Given the description of an element on the screen output the (x, y) to click on. 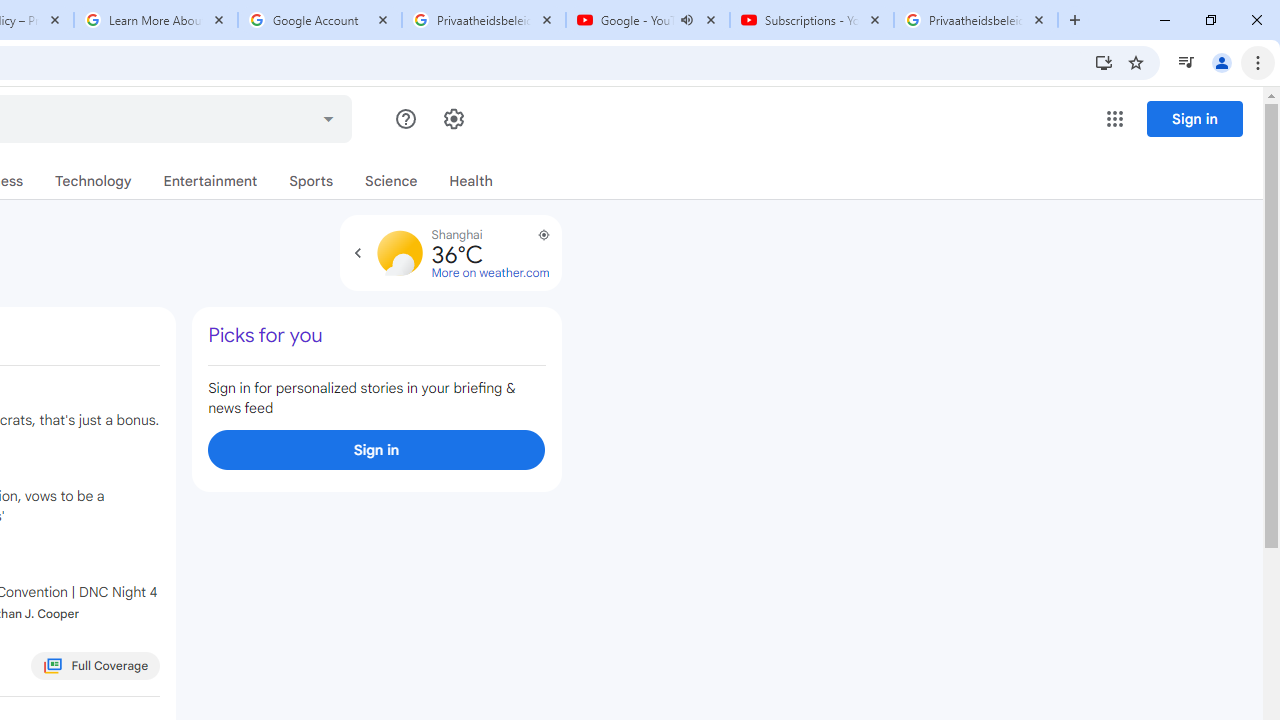
Health (470, 181)
Science (391, 181)
Full Coverage (95, 665)
Sports (311, 181)
Subscriptions - YouTube (811, 20)
Technology (93, 181)
